Given the description of an element on the screen output the (x, y) to click on. 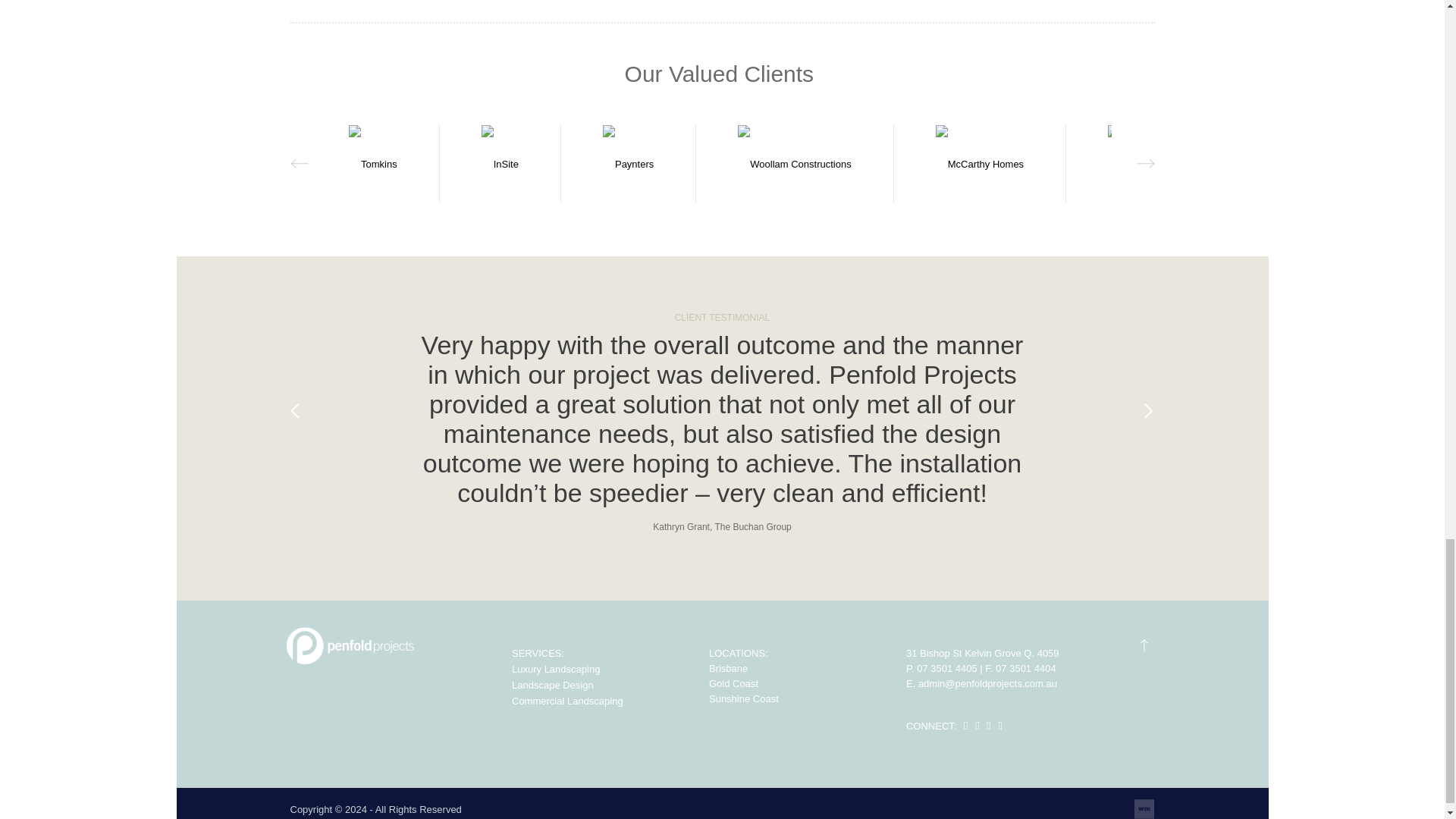
Woollam Constructions (794, 163)
